Given the description of an element on the screen output the (x, y) to click on. 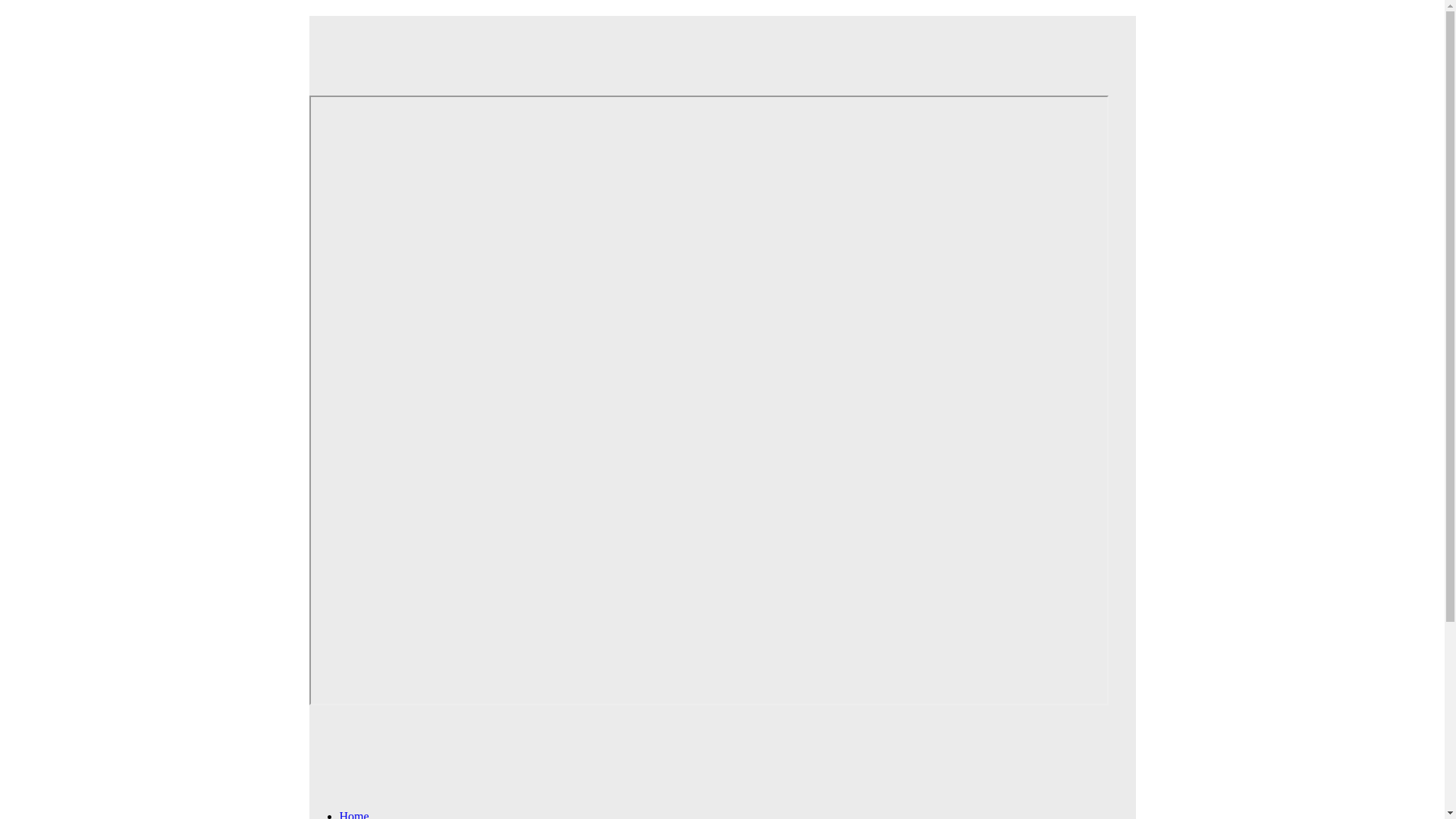
Web Hosting from Just Host Element type: text (707, 44)
